Given the description of an element on the screen output the (x, y) to click on. 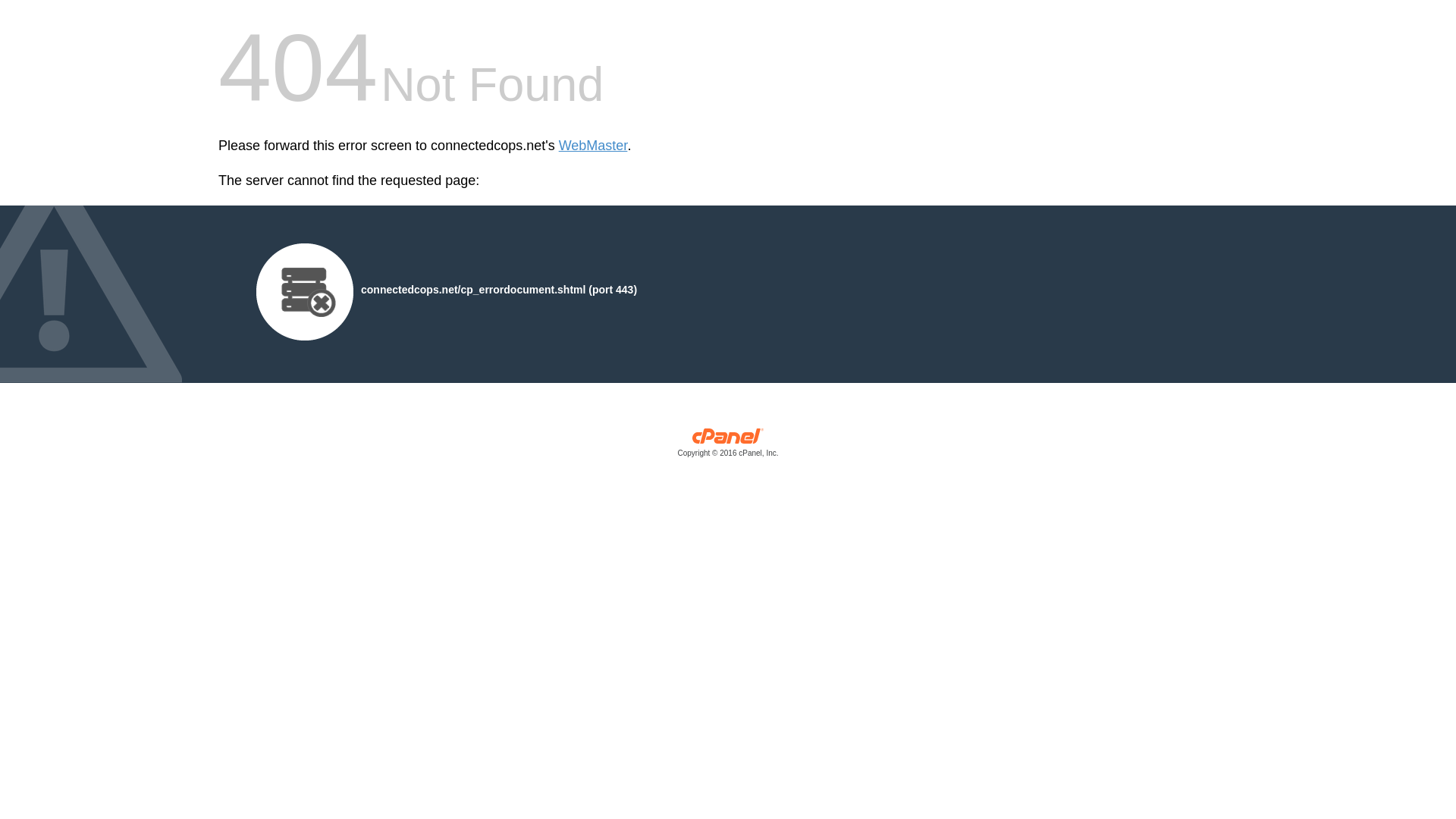
WebMaster (593, 145)
cPanel, Inc. (727, 446)
